Given the description of an element on the screen output the (x, y) to click on. 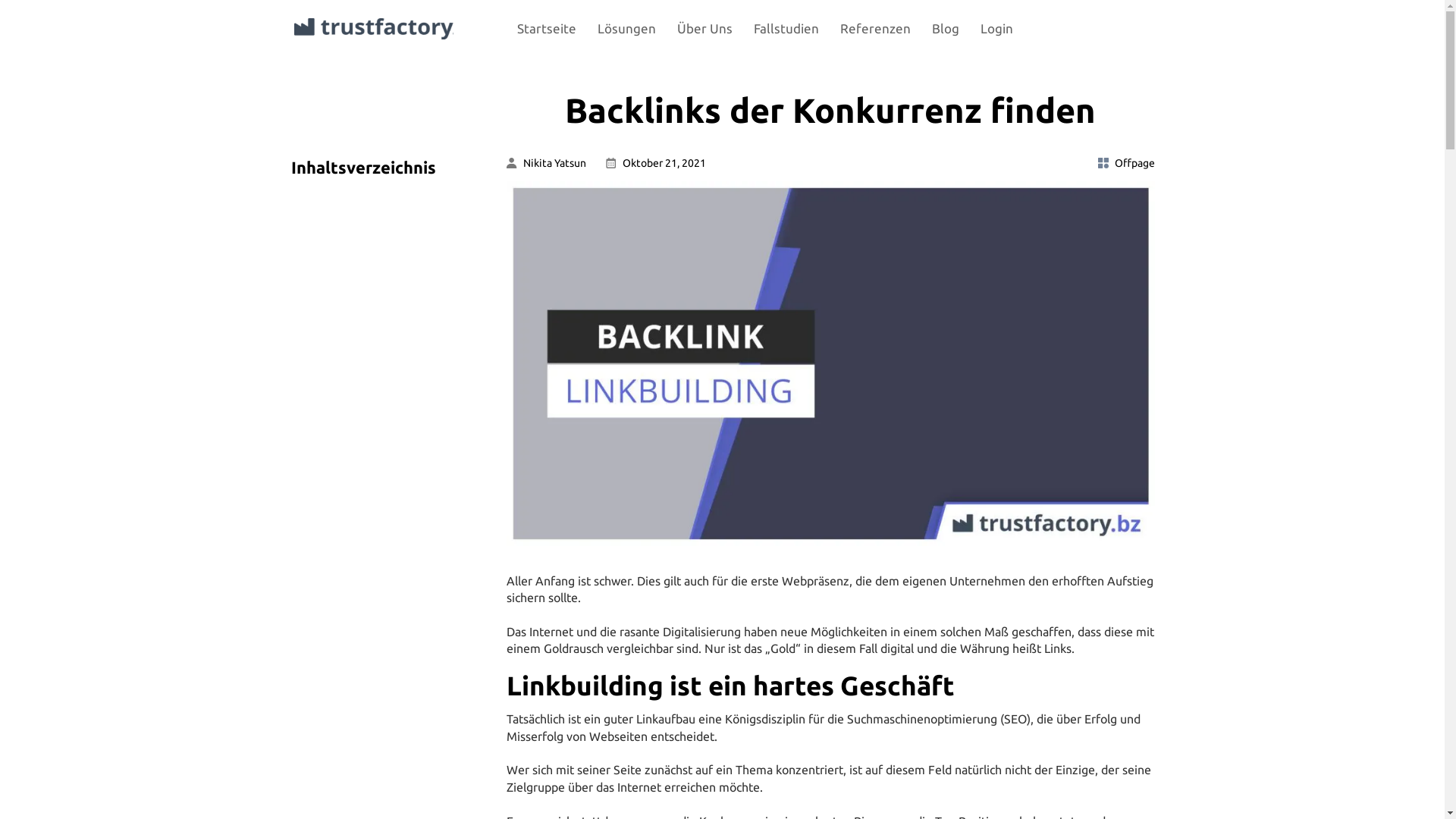
Referenzen Element type: text (875, 28)
Fallstudien Element type: text (786, 28)
Login Element type: text (995, 28)
Startseite Element type: text (546, 28)
Blog Element type: text (944, 28)
Nikita Yatsun Element type: text (546, 162)
